Given the description of an element on the screen output the (x, y) to click on. 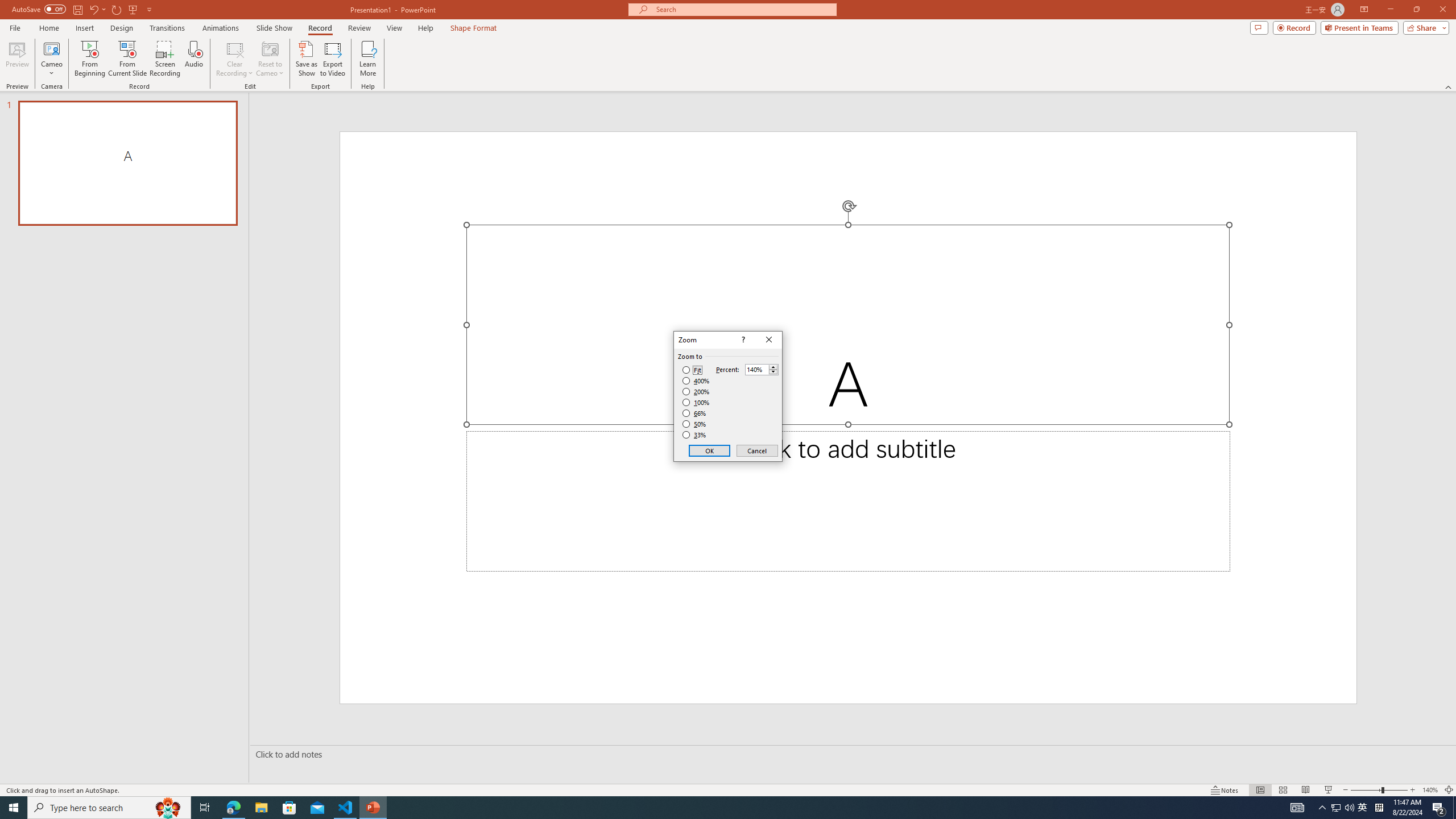
33% (694, 434)
Percent (756, 369)
Clear Recording (234, 58)
Reset to Cameo (269, 58)
Fit (691, 370)
